Given the description of an element on the screen output the (x, y) to click on. 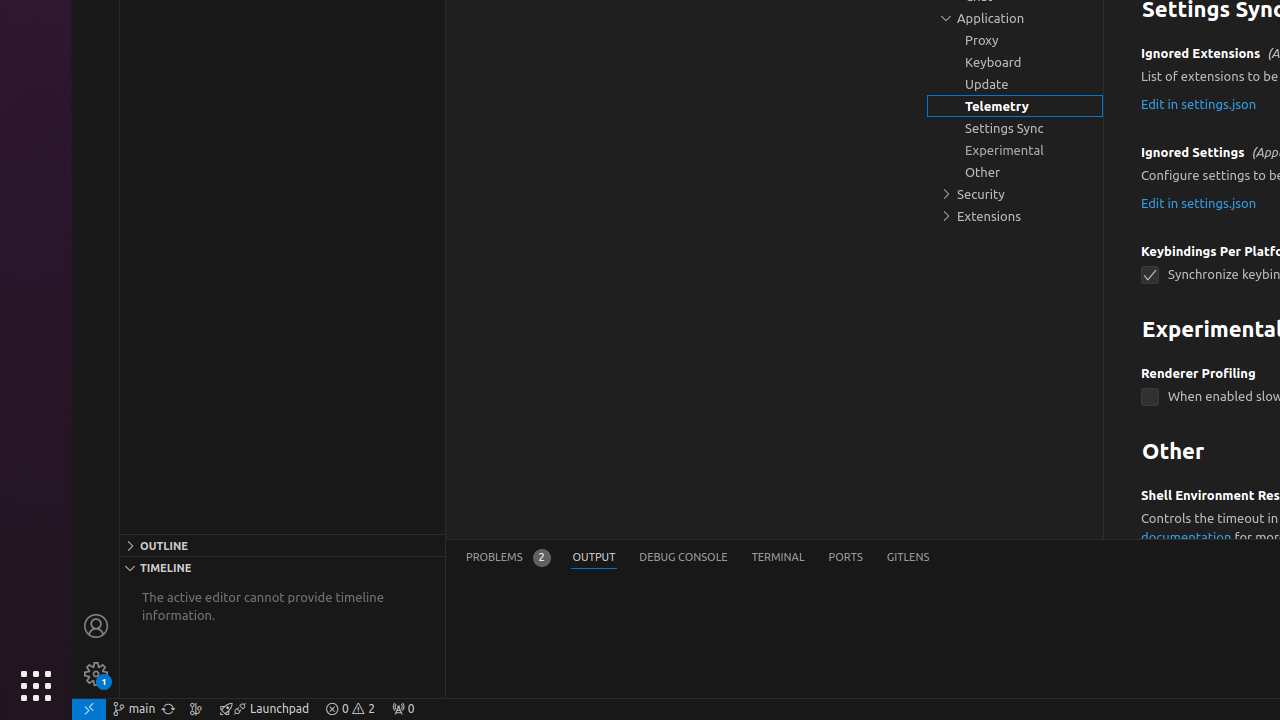
Update, group Element type: tree-item (1015, 84)
Telemetry, group Element type: tree-item (1015, 106)
Other, group Element type: tree-item (1015, 172)
More Actions... (Shift+F9) Element type: push-button (1116, 492)
Settings Sync, group Element type: tree-item (1015, 128)
